Given the description of an element on the screen output the (x, y) to click on. 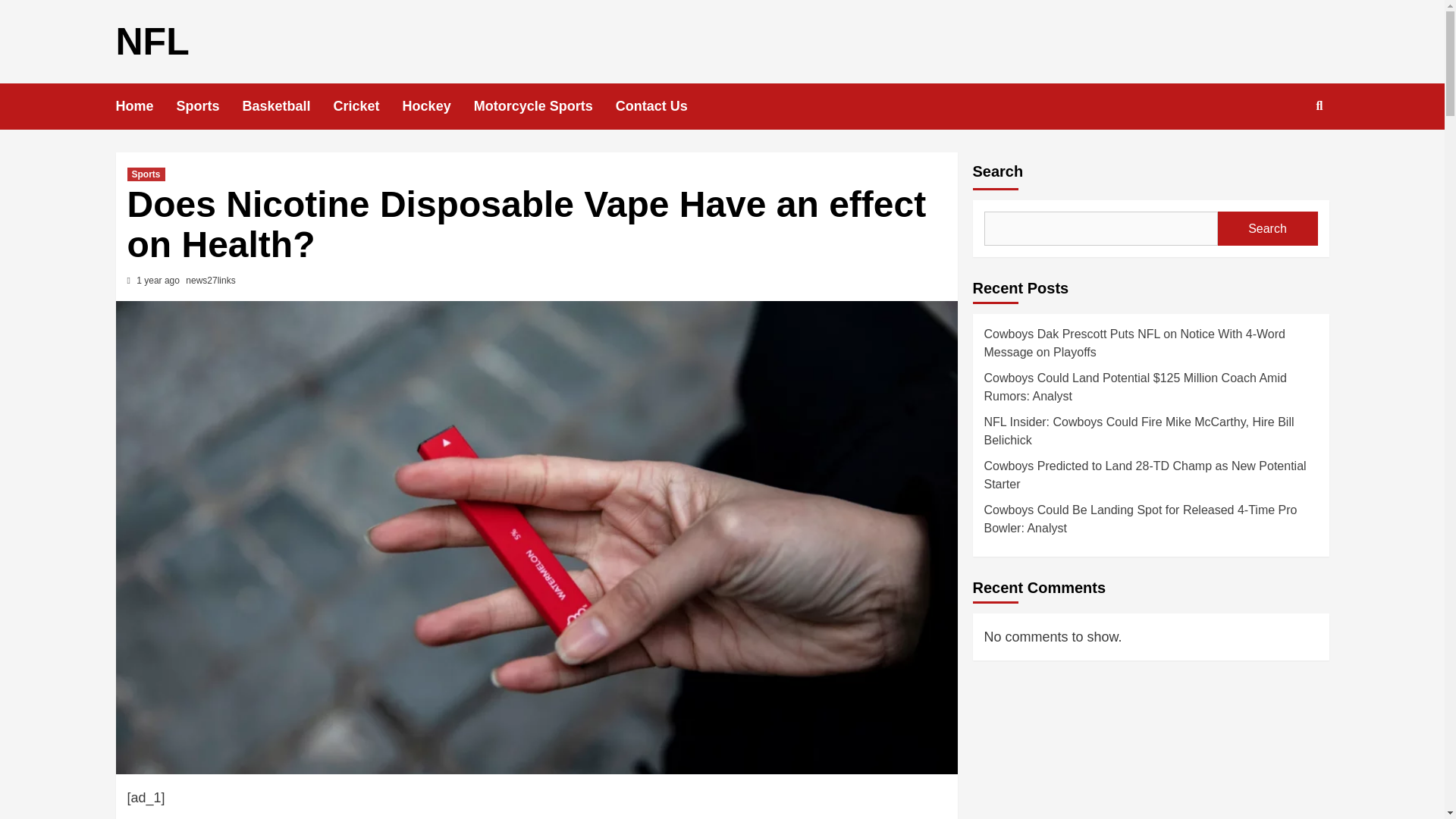
Basketball (288, 106)
news27links (210, 280)
Home (145, 106)
Cricket (368, 106)
Contact Us (662, 106)
Hockey (438, 106)
Sports (209, 106)
